Given the description of an element on the screen output the (x, y) to click on. 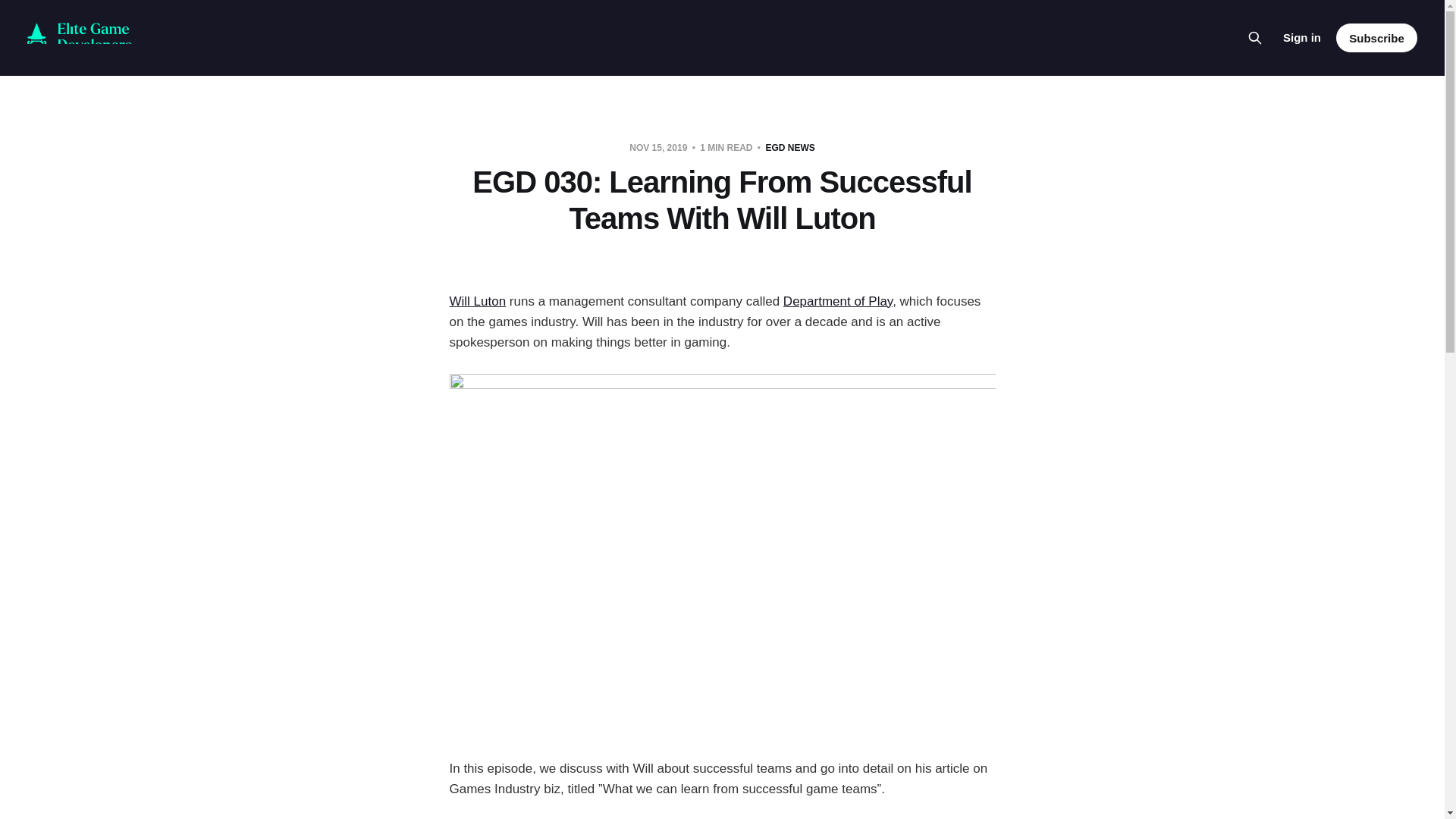
Department of Play (837, 301)
Will Luton (476, 301)
Subscribe (1376, 37)
EGD NEWS (789, 147)
Sign in (1301, 37)
